Given the description of an element on the screen output the (x, y) to click on. 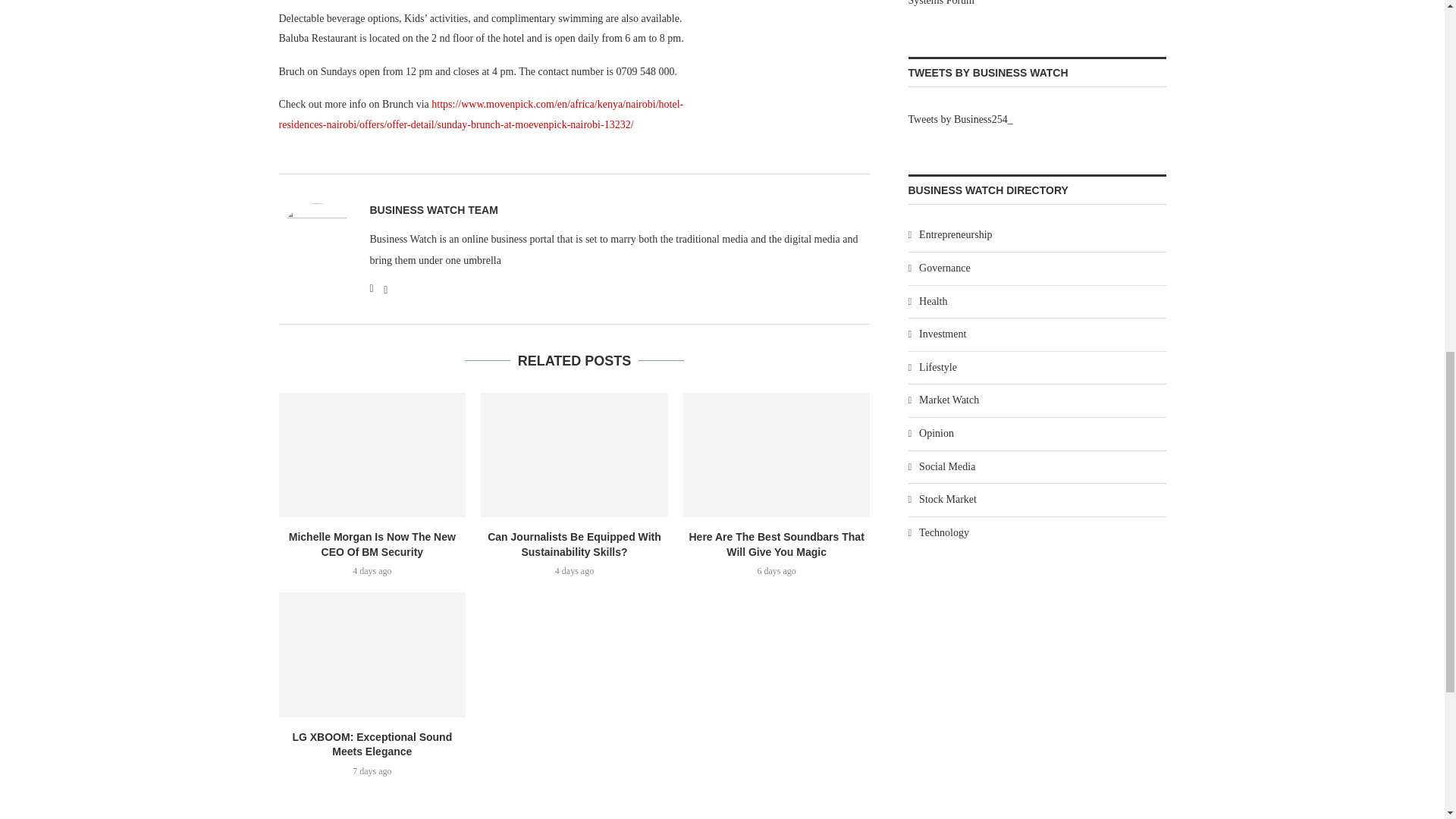
Author Business Watch Team (433, 210)
Here Are The Best Soundbars That Will Give You Magic (776, 454)
Michelle Morgan Is Now The New CEO Of BM Security (372, 454)
Can Journalists Be Equipped With Sustainability Skills? (574, 454)
LG XBOOM: Exceptional Sound Meets Elegance (372, 654)
